Given the description of an element on the screen output the (x, y) to click on. 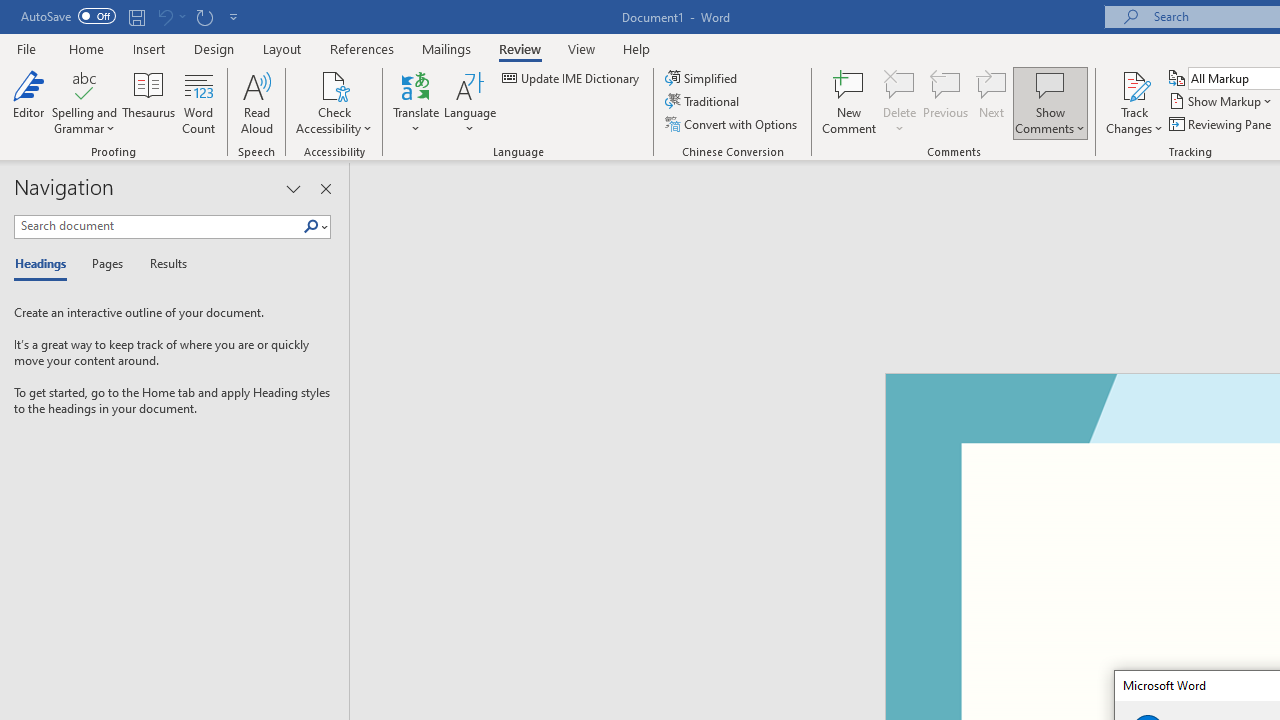
Delete (900, 84)
Next (991, 102)
Insert (149, 48)
Check Accessibility (334, 84)
AutoSave (68, 16)
Quick Access Toolbar (131, 16)
File Tab (26, 48)
Pages (105, 264)
Delete (900, 102)
Headings (45, 264)
Class: NetUIImage (311, 226)
Save (136, 15)
Editor (28, 102)
